Given the description of an element on the screen output the (x, y) to click on. 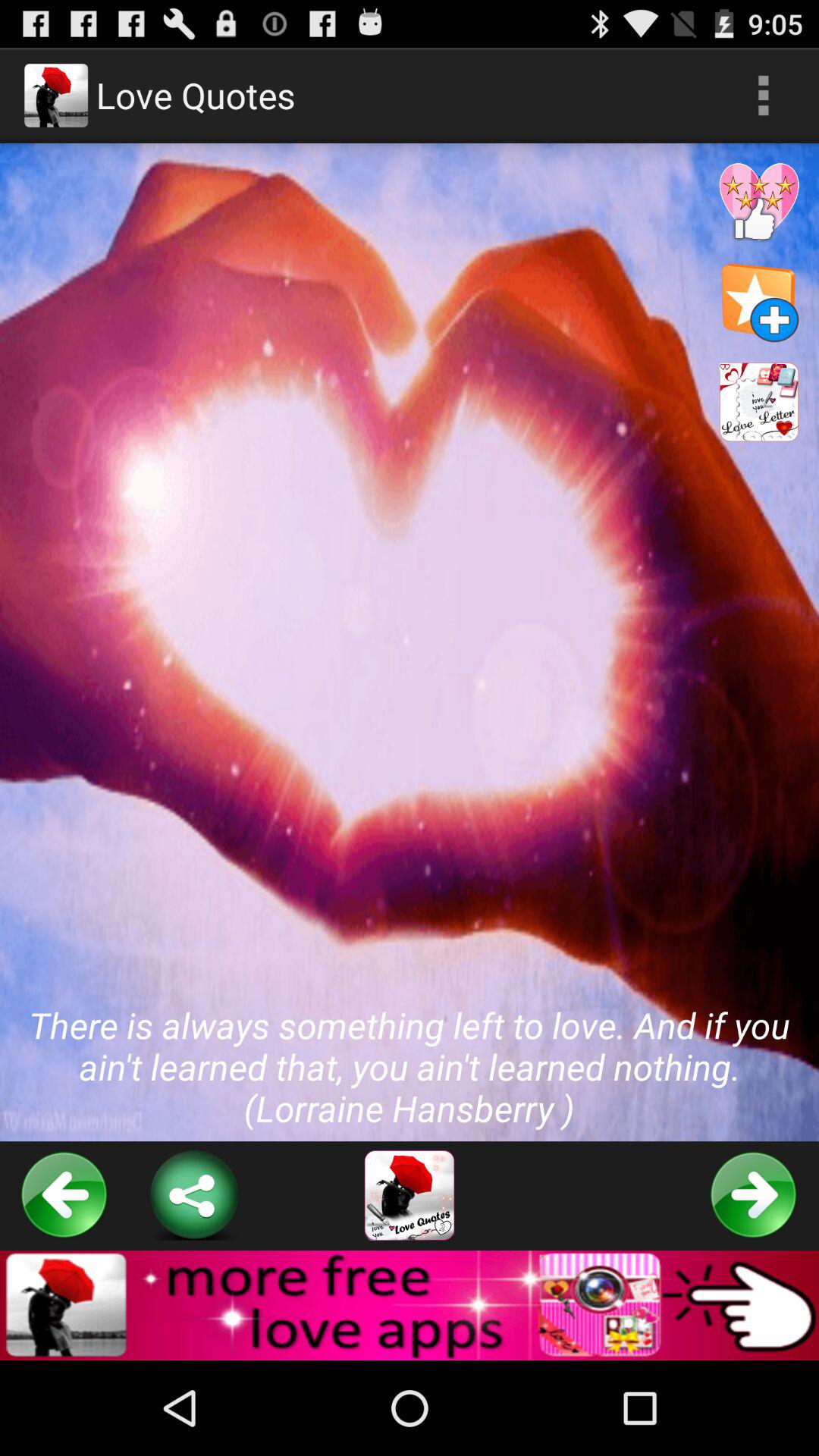
turn on the item below the there is always button (64, 1195)
